Given the description of an element on the screen output the (x, y) to click on. 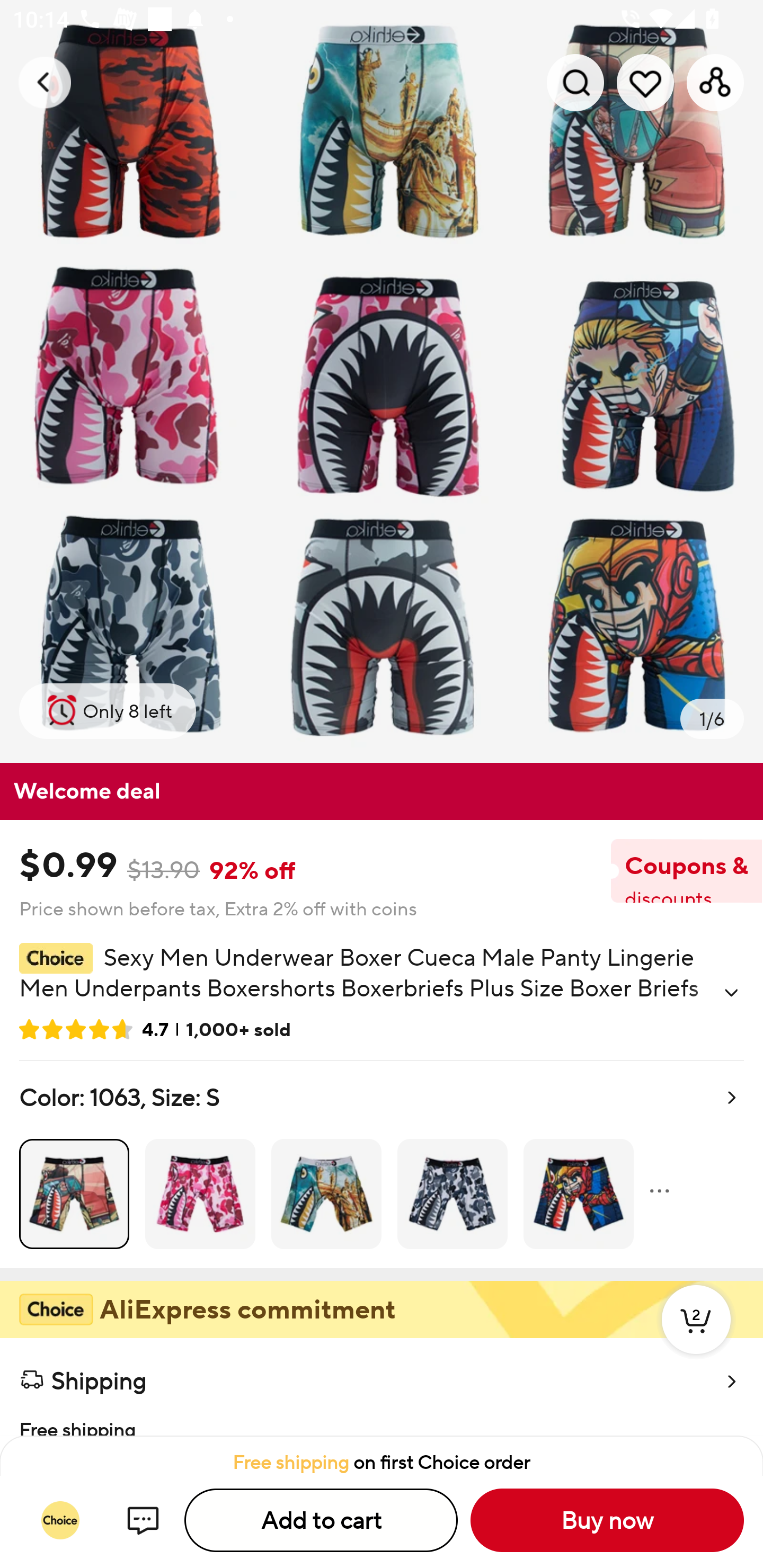
Navigate up (44, 82)
 (730, 992)
Color: 1063, Size: S  (381, 1164)
2 (695, 1338)
Shipping  Free shipping  (381, 1386)
Free shipping  (381, 1418)
Add to cart (320, 1520)
Buy now (606, 1520)
